Given the description of an element on the screen output the (x, y) to click on. 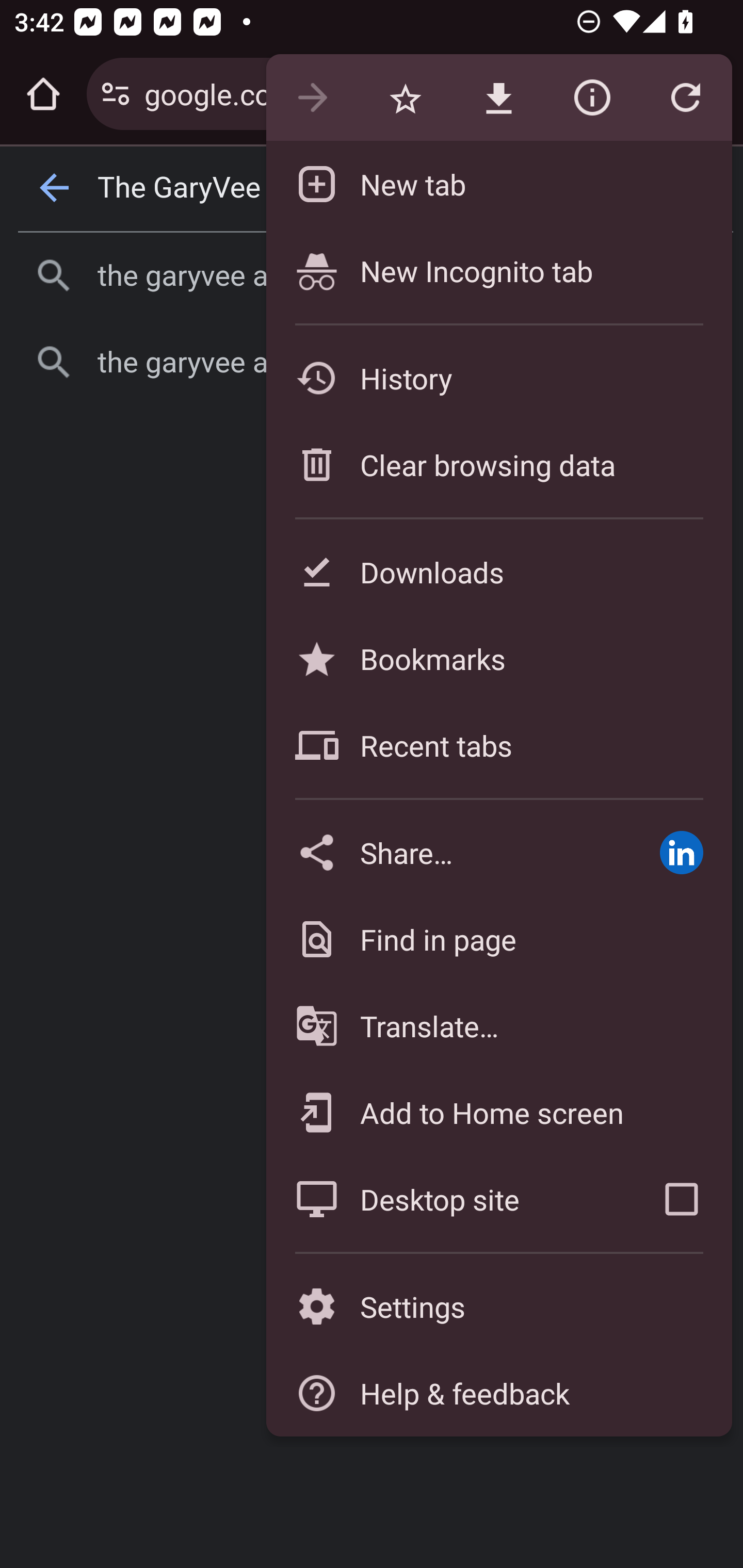
Forward (311, 97)
Bookmark (404, 97)
Download (498, 97)
Page info (591, 97)
Refresh (684, 97)
New tab (498, 184)
New Incognito tab (498, 270)
History (498, 377)
Clear browsing data (498, 464)
Downloads (498, 571)
Bookmarks (498, 658)
Recent tabs (498, 745)
Share… (447, 852)
Share via Share in a post (680, 852)
Find in page (498, 939)
Translate… (498, 1026)
Add to Home screen (498, 1112)
Desktop site Turn on Request desktop site (447, 1198)
Settings (498, 1306)
Help & feedback (498, 1393)
